Given the description of an element on the screen output the (x, y) to click on. 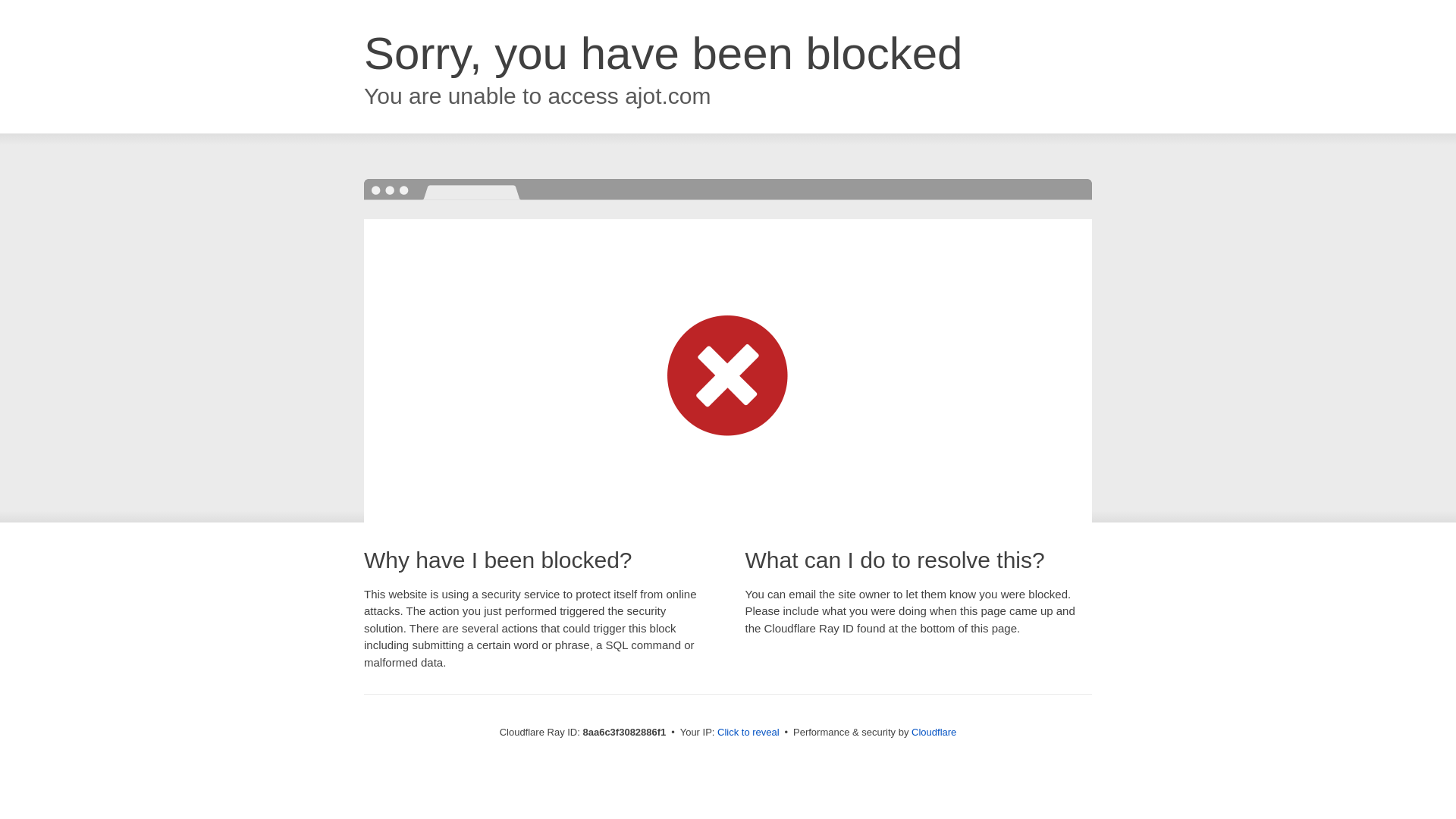
Click to reveal (747, 732)
Cloudflare (933, 731)
